Given the description of an element on the screen output the (x, y) to click on. 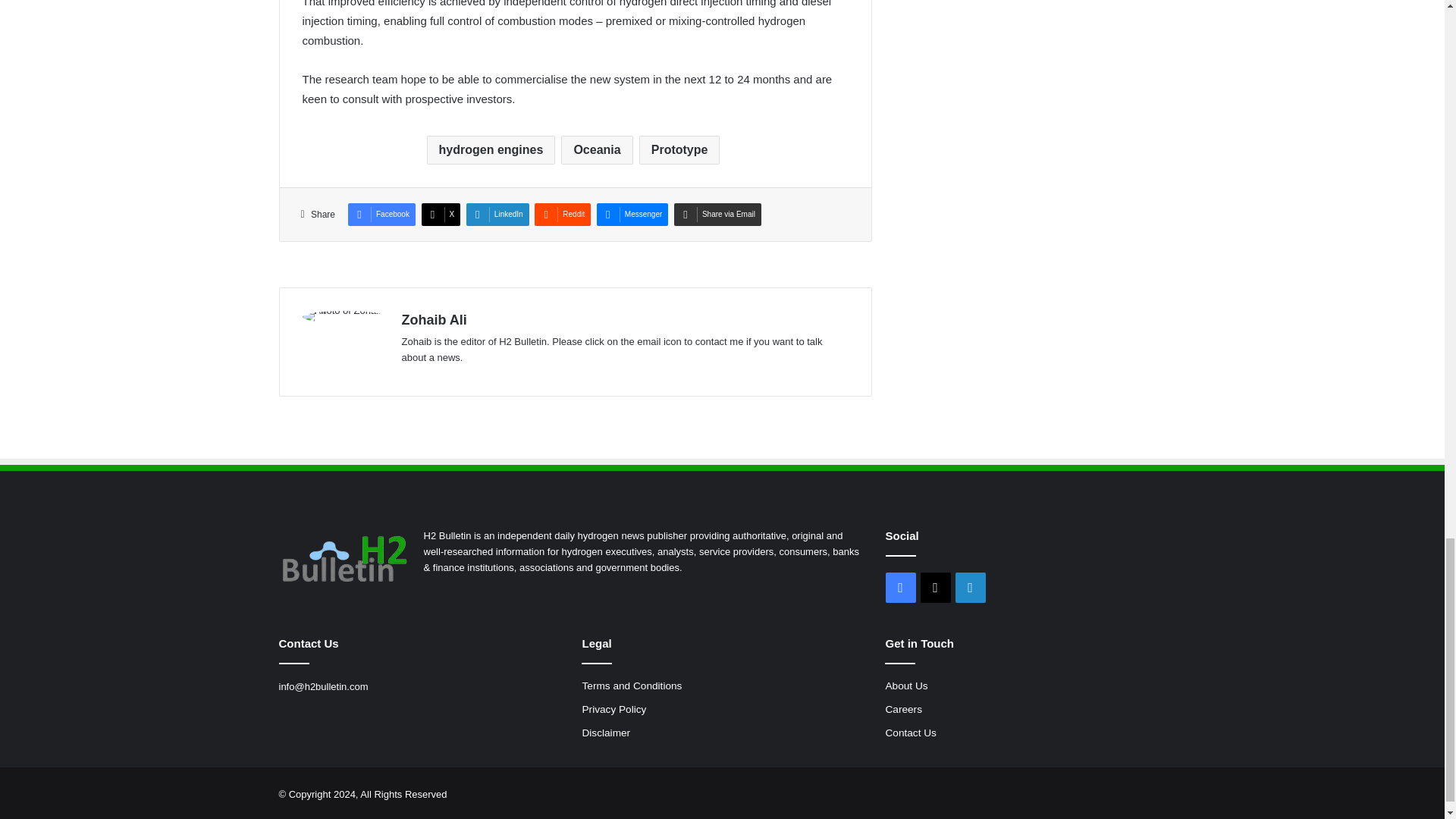
Facebook (380, 214)
Oceania (595, 149)
Reddit (562, 214)
LinkedIn (497, 214)
LinkedIn (497, 214)
Prototype (679, 149)
X (441, 214)
Reddit (562, 214)
Zohaib Ali (434, 319)
Share via Email (717, 214)
